Given the description of an element on the screen output the (x, y) to click on. 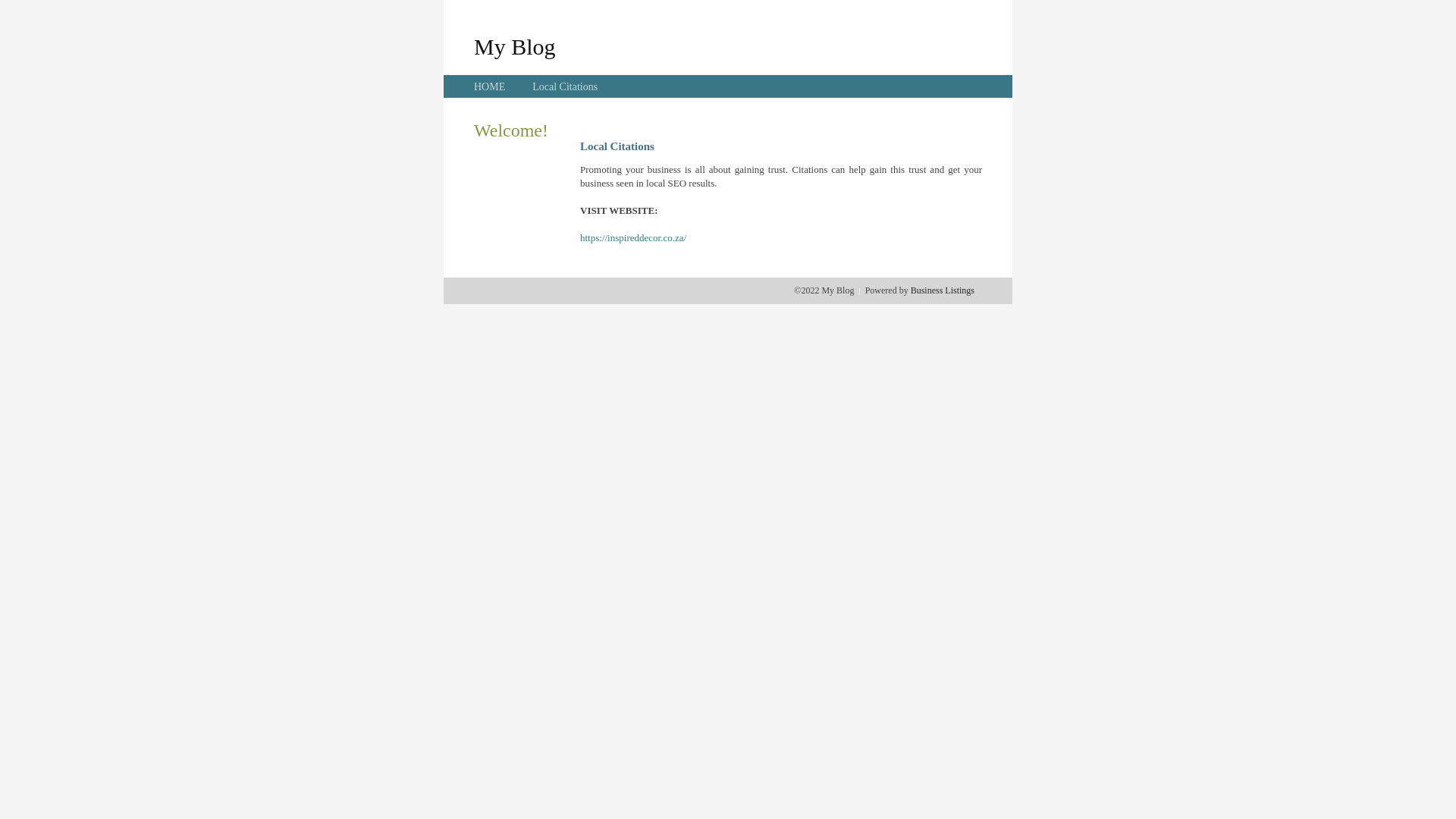
Business Listings Element type: text (942, 290)
My Blog Element type: text (514, 46)
HOME Element type: text (489, 86)
https://inspireddecor.co.za/ Element type: text (633, 237)
Local Citations Element type: text (564, 86)
